Given the description of an element on the screen output the (x, y) to click on. 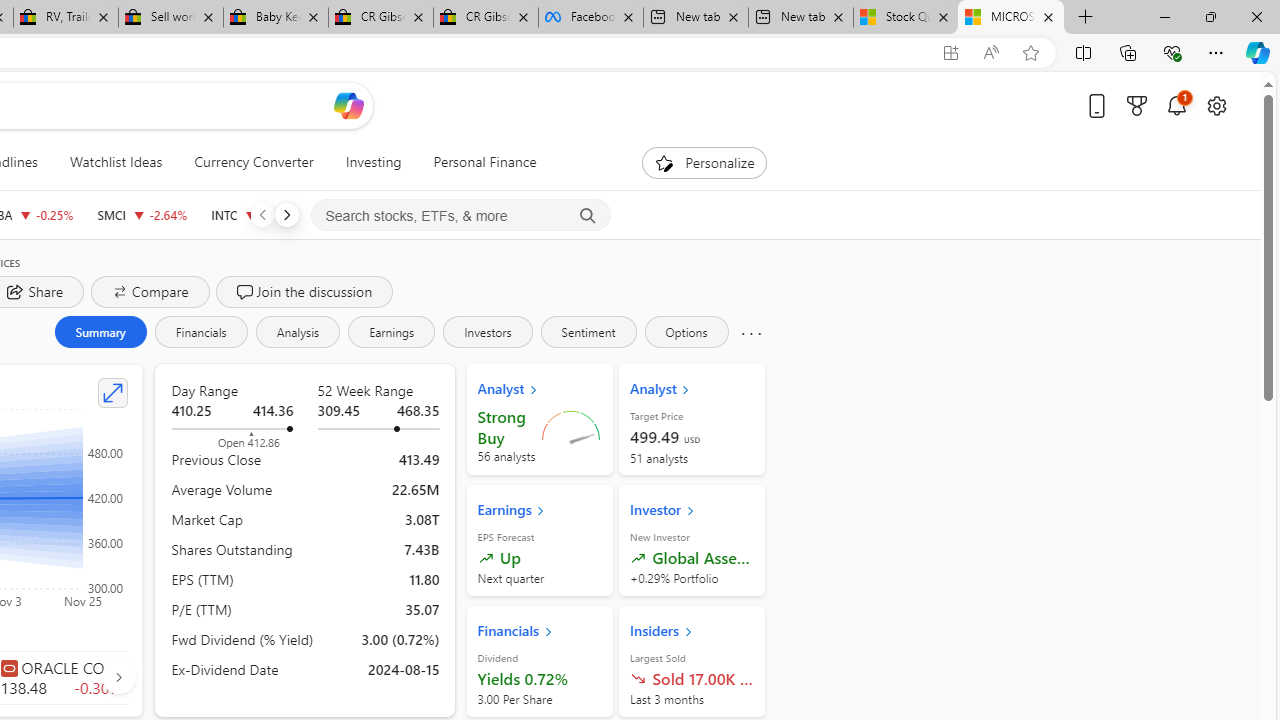
Microsoft rewards (1137, 105)
Analysis (297, 331)
RV, Trailer & Camper Steps & Ladders for sale | eBay (65, 17)
Class: autoSuggestIcon-DS-EntryPoint1-2 (8, 667)
Personal Finance (477, 162)
Next (286, 214)
Facebook (590, 17)
